Given the description of an element on the screen output the (x, y) to click on. 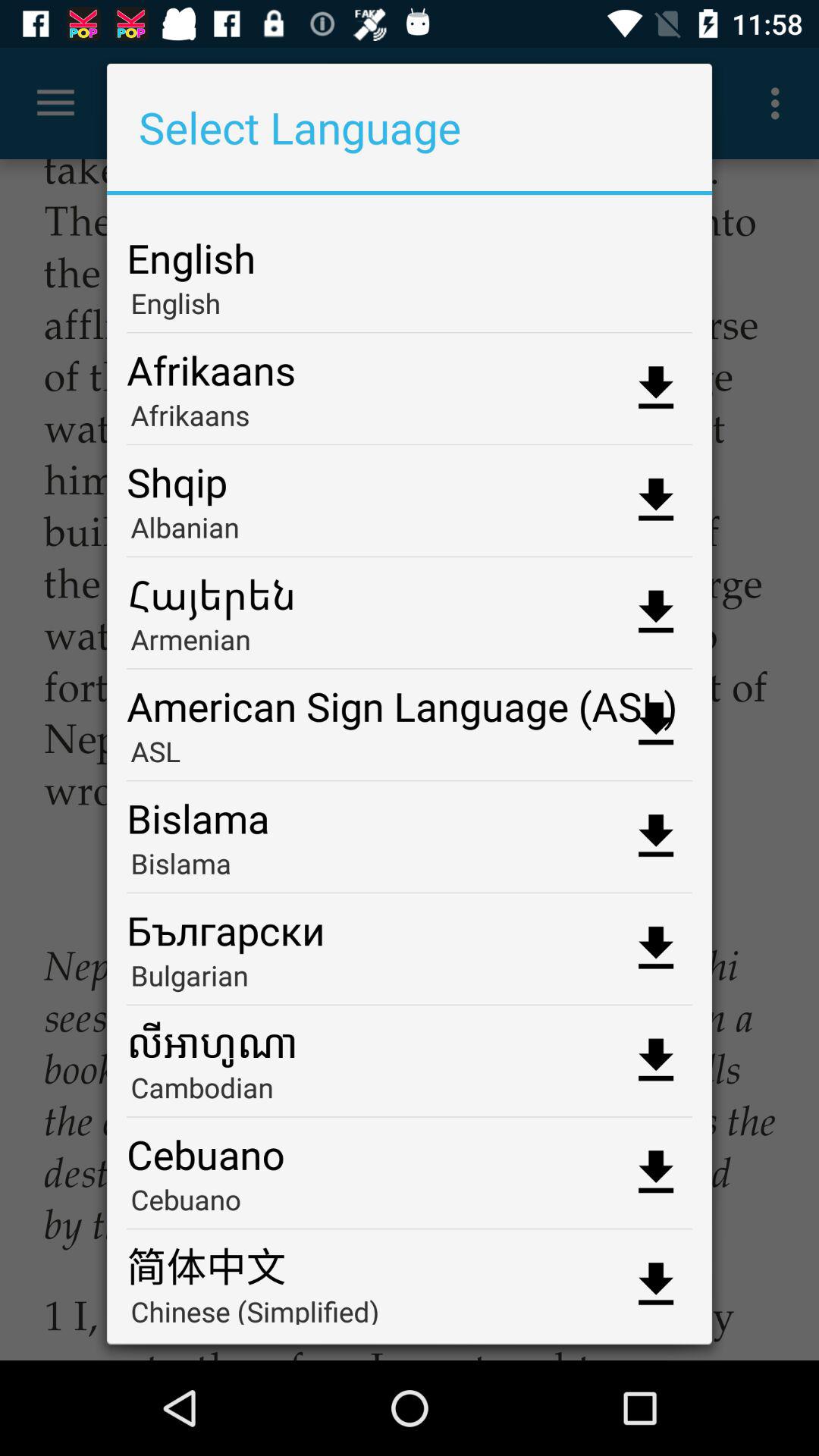
jump to the cambodian (409, 1092)
